Given the description of an element on the screen output the (x, y) to click on. 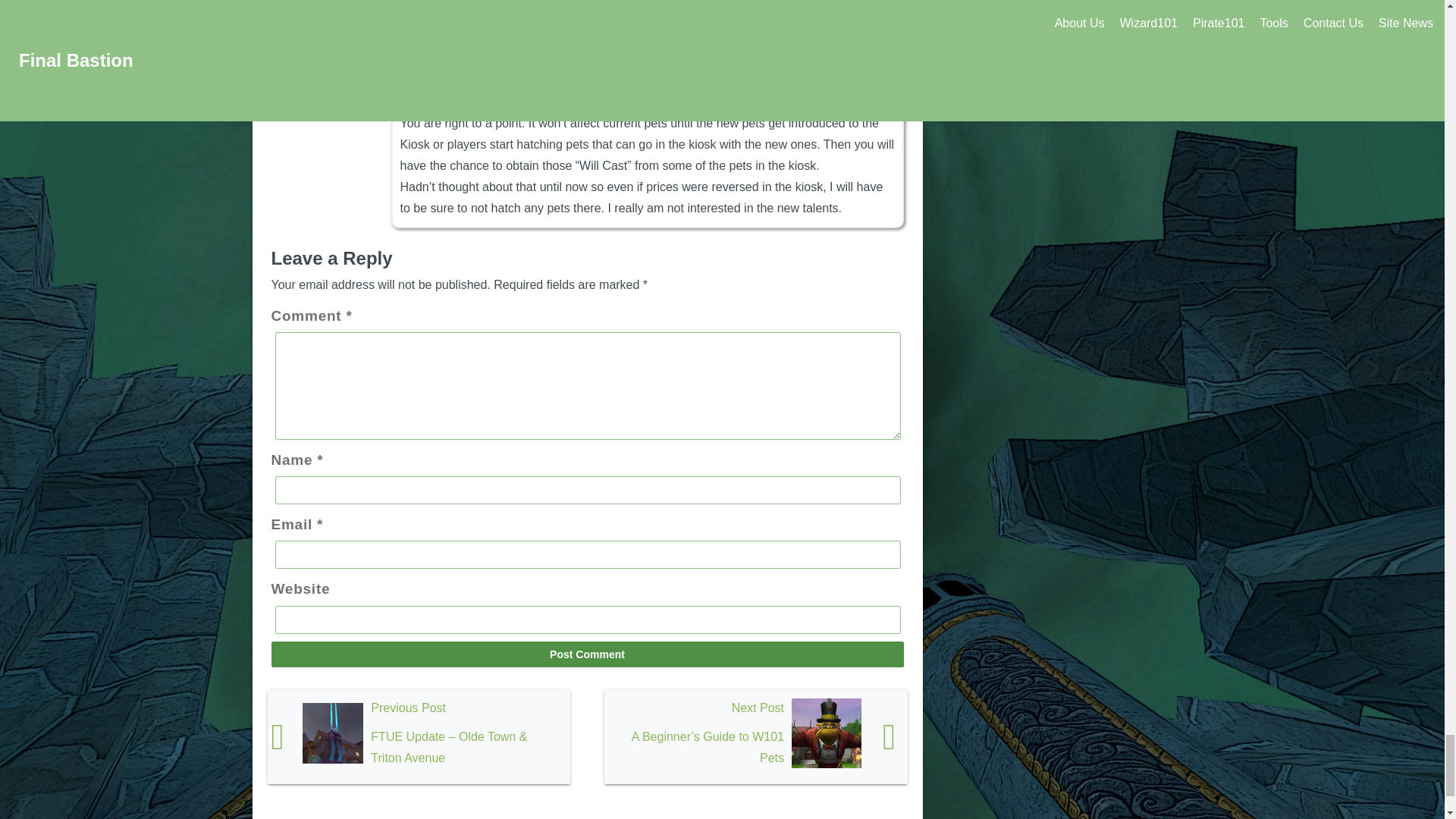
Post Comment (587, 654)
